Given the description of an element on the screen output the (x, y) to click on. 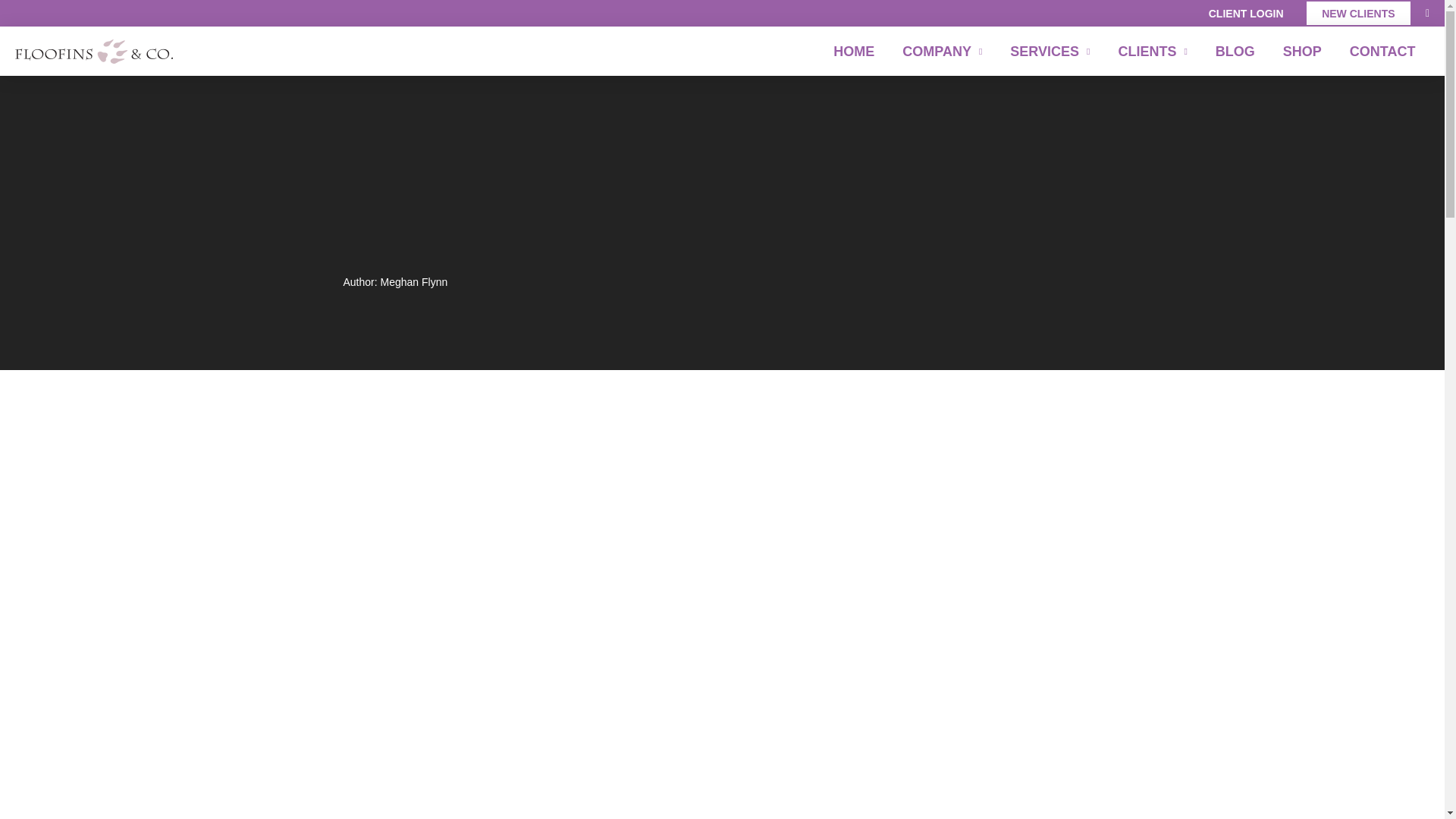
SERVICES (1049, 51)
CLIENTS (1152, 51)
BLOG (1234, 51)
COMPANY (941, 51)
CLIENT LOGIN (1245, 13)
NEW CLIENTS (1358, 13)
CONTACT (1382, 51)
SHOP (1301, 51)
HOME (853, 51)
